Given the description of an element on the screen output the (x, y) to click on. 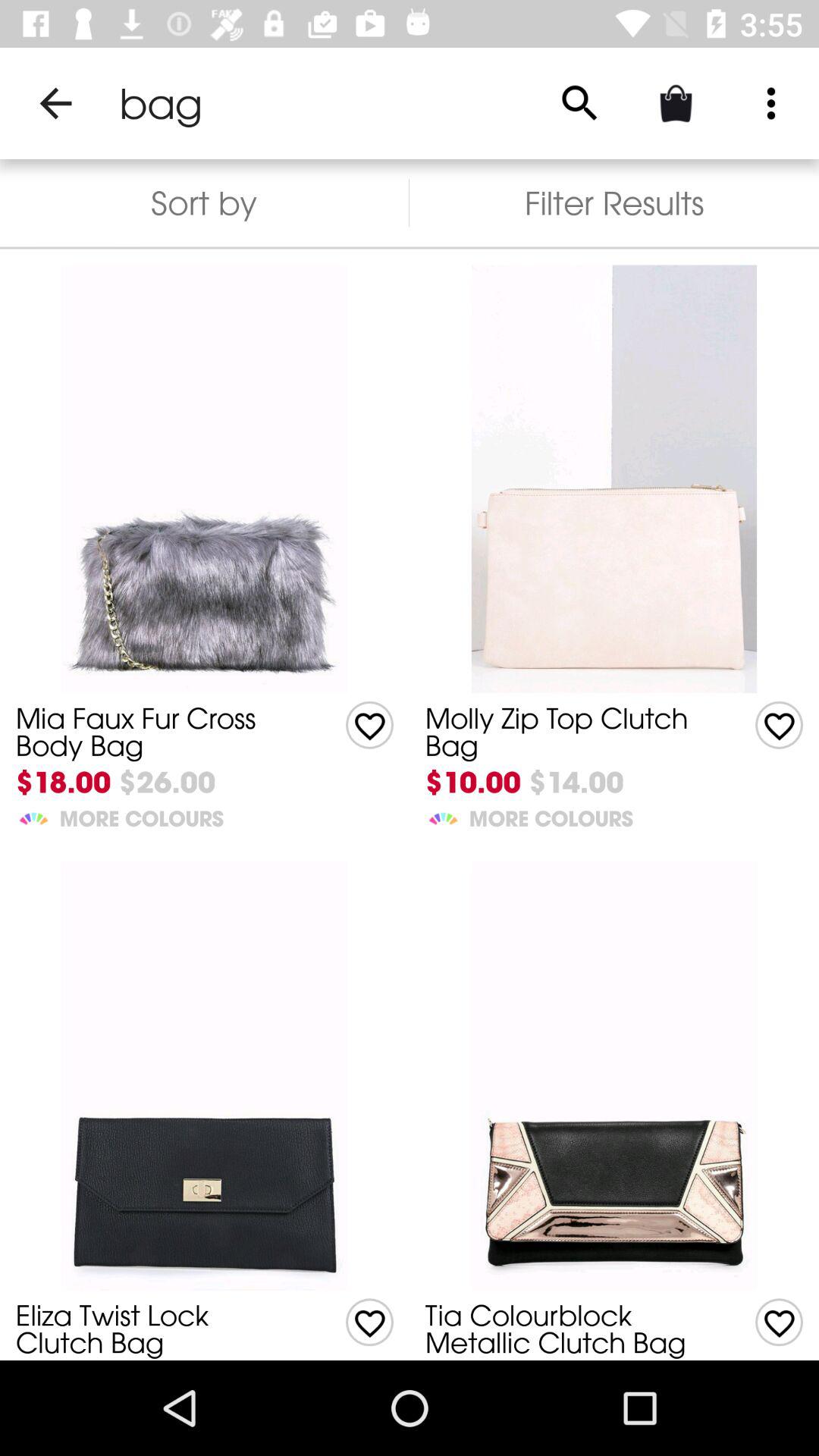
choose filter results icon (614, 202)
